Given the description of an element on the screen output the (x, y) to click on. 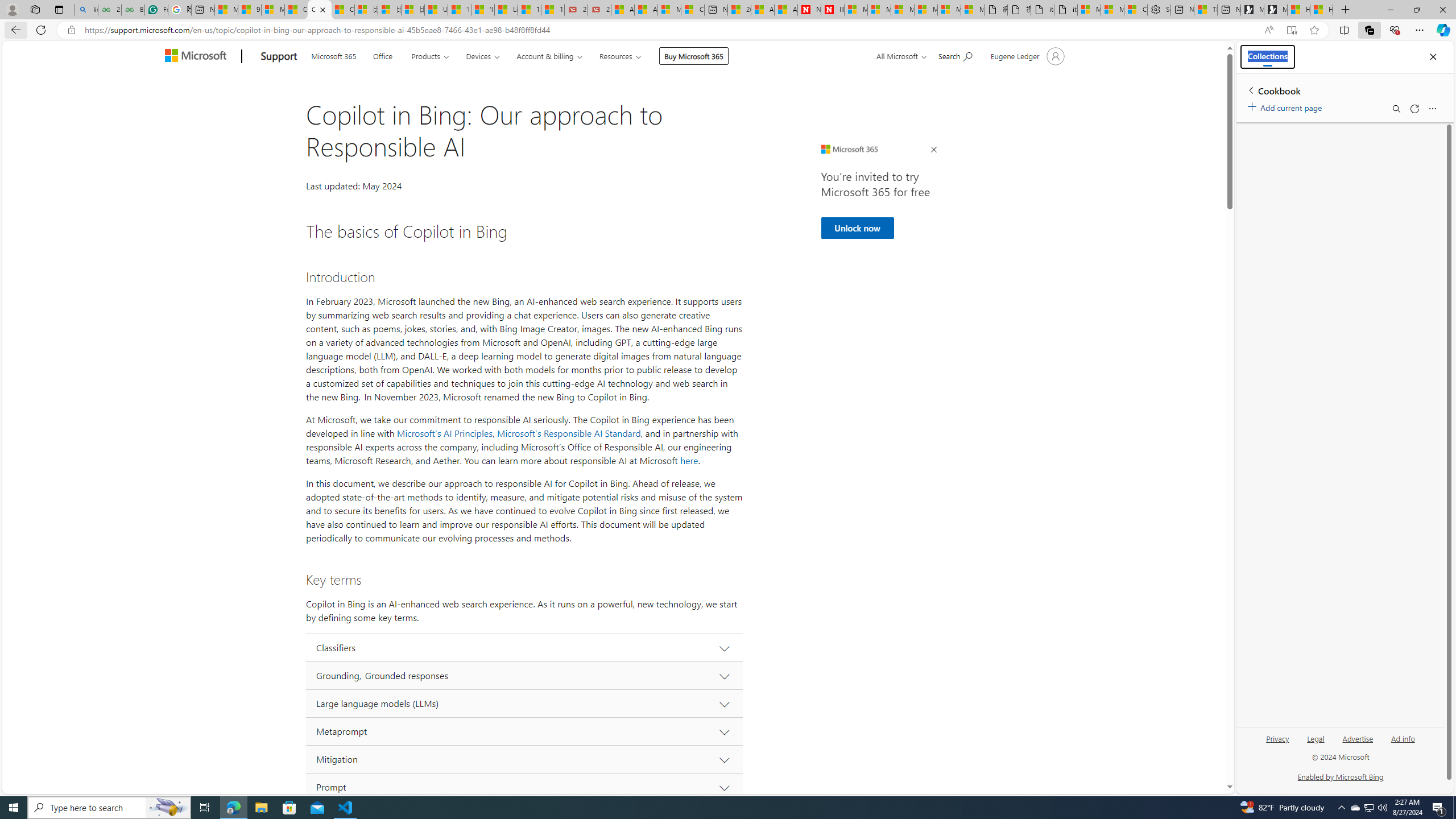
20 Ways to Boost Your Protein Intake at Every Meal (738, 9)
Support (278, 56)
Newsweek - News, Analysis, Politics, Business, Technology (809, 9)
Account manager for Eugene Ledger (1025, 55)
USA TODAY - MSN (435, 9)
